Given the description of an element on the screen output the (x, y) to click on. 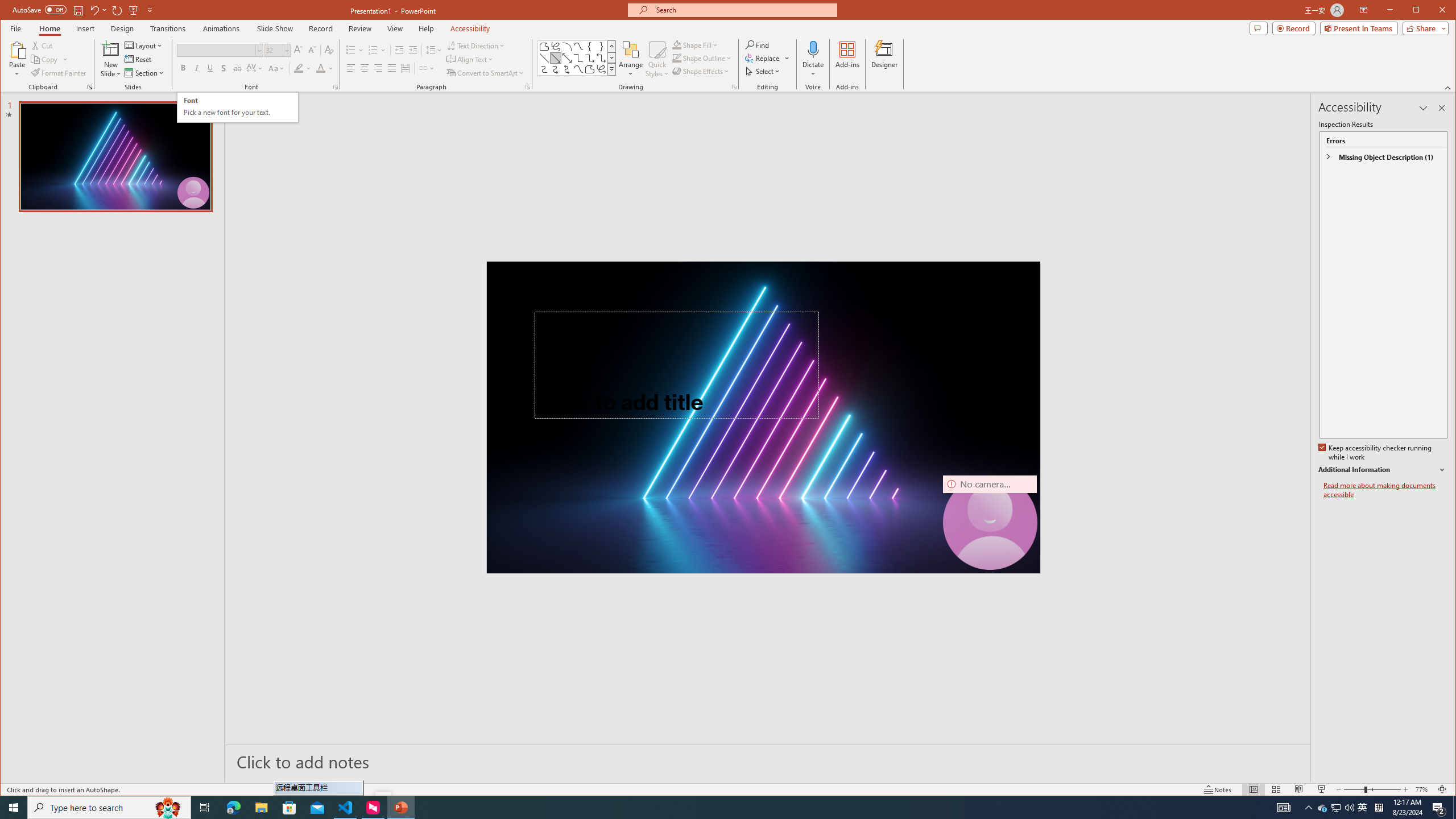
Connector: Curved Arrow (556, 69)
